Given the description of an element on the screen output the (x, y) to click on. 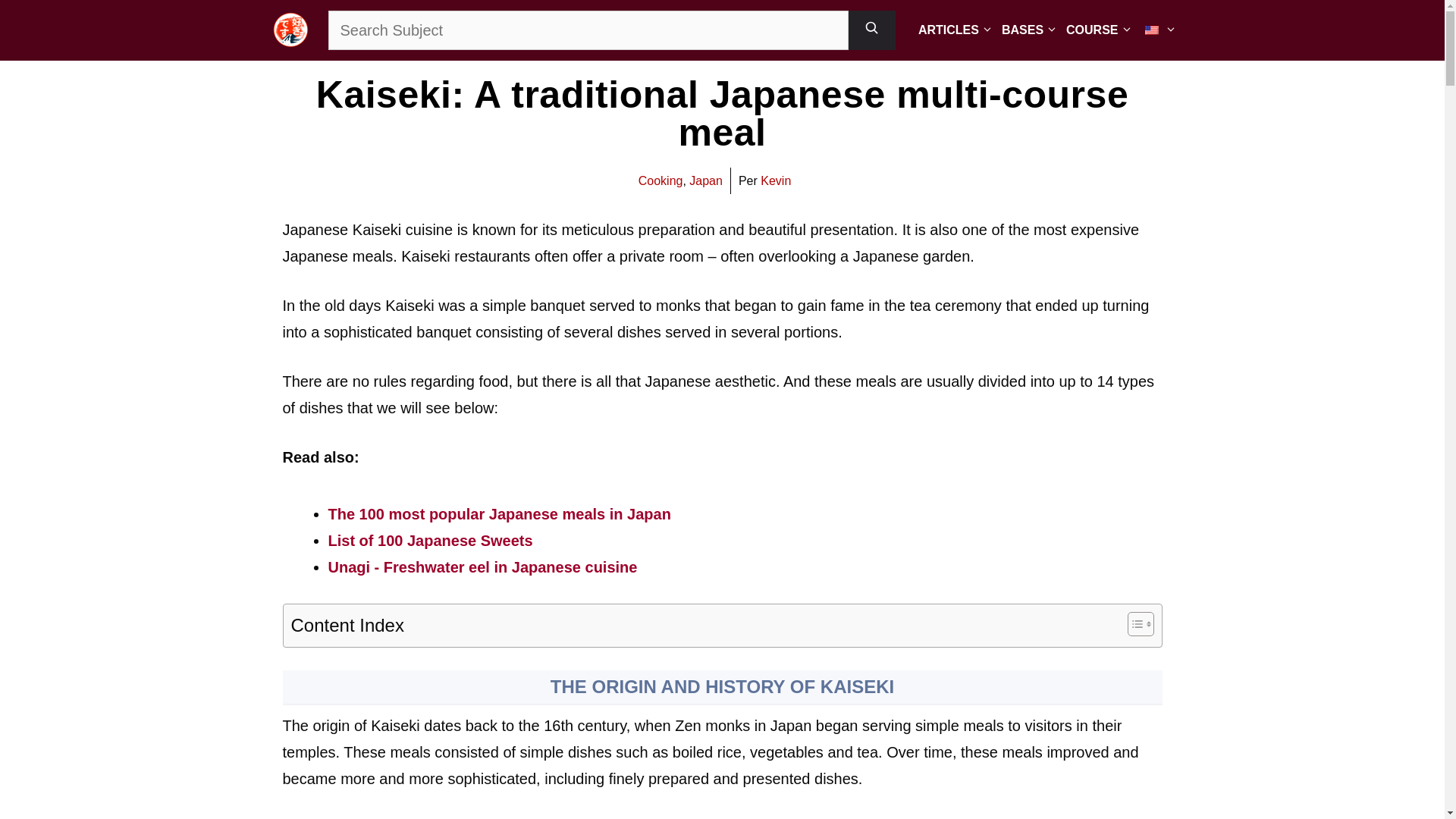
Search (587, 29)
The 100 most popular Japanese meals in Japan (498, 514)
English (1151, 30)
disable (1154, 30)
Kevin (775, 180)
COURSE (1095, 30)
BASES (1026, 30)
Cooking (660, 180)
Japan (705, 180)
ARTICLES (952, 30)
